Given the description of an element on the screen output the (x, y) to click on. 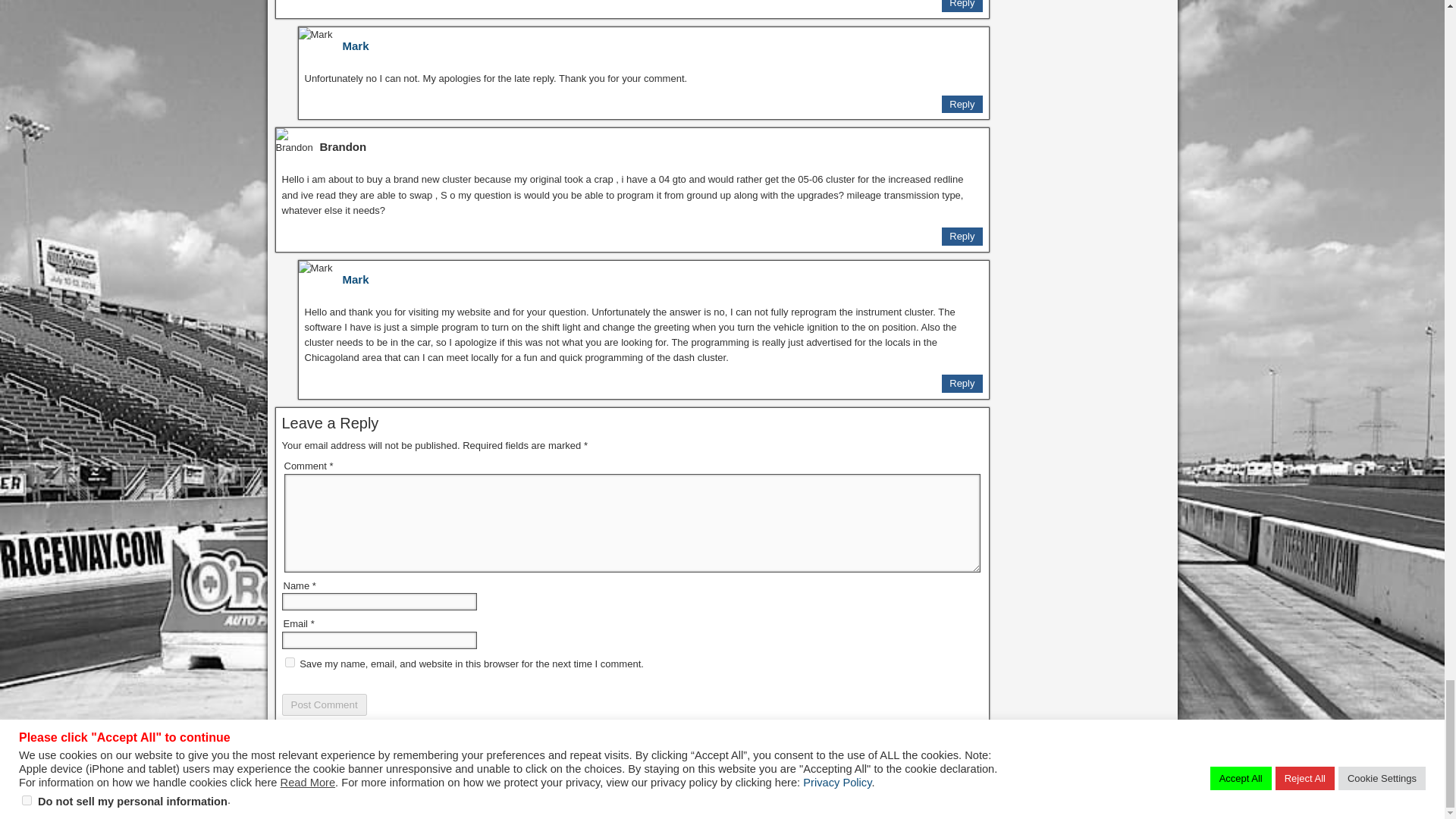
yes (290, 662)
Please wait until Google reCAPTCHA is loaded. (324, 704)
Post Comment (324, 704)
